Given the description of an element on the screen output the (x, y) to click on. 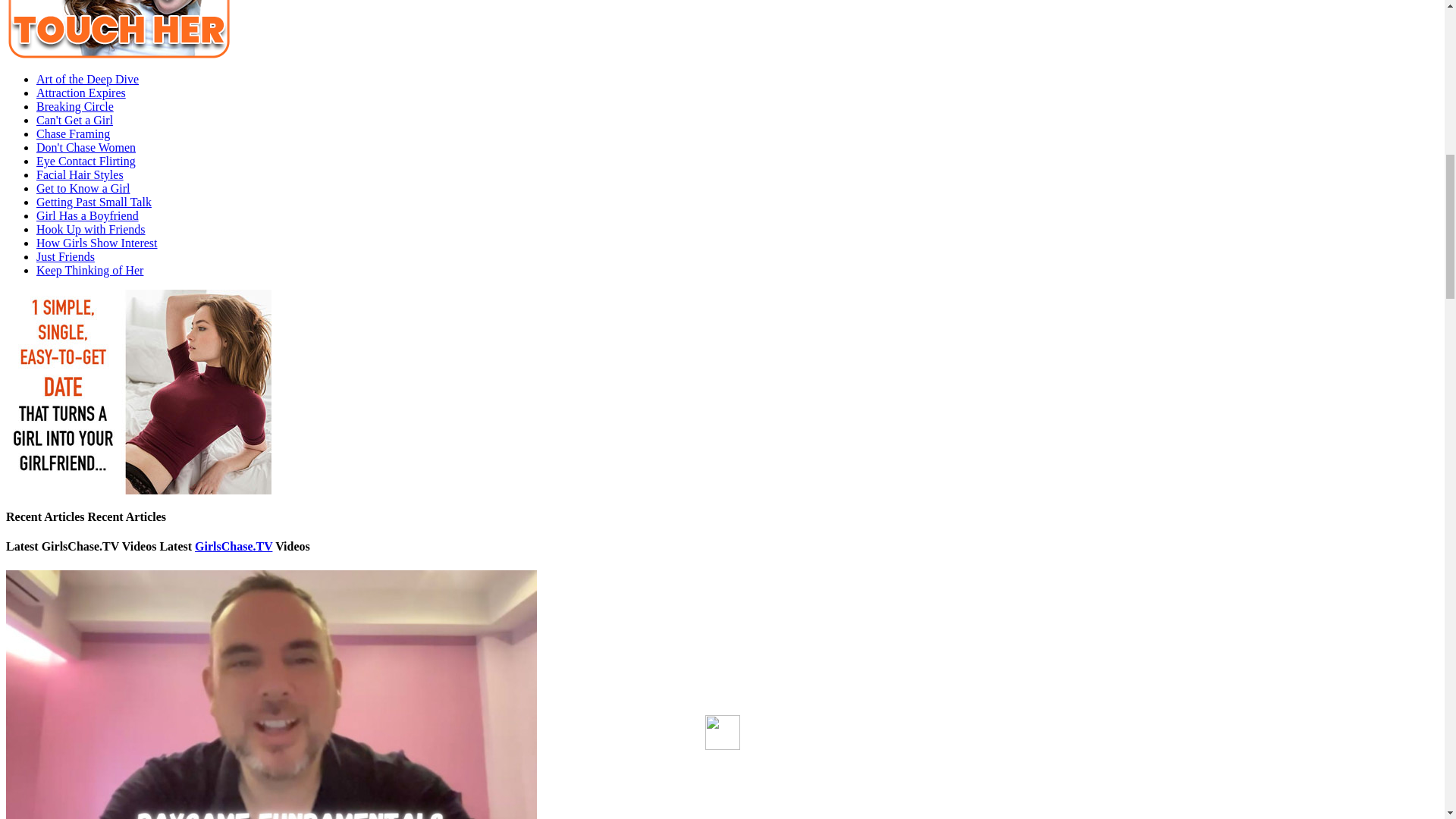
Attraction Expires (80, 92)
Eye Contact Flirting (85, 160)
Art of the Deep Dive (87, 78)
Just Friends (65, 256)
Get to Know a Girl (83, 187)
How Girls Show Interest (96, 242)
Don't Chase Women (85, 146)
Chase Framing (73, 133)
Hook Up with Friends (90, 228)
Girl Has a Boyfriend (87, 215)
Breaking Circle (74, 106)
Keep Thinking of Her (89, 269)
Facial Hair Styles (79, 174)
Getting Past Small Talk (93, 201)
Can't Get a Girl (74, 119)
